Given the description of an element on the screen output the (x, y) to click on. 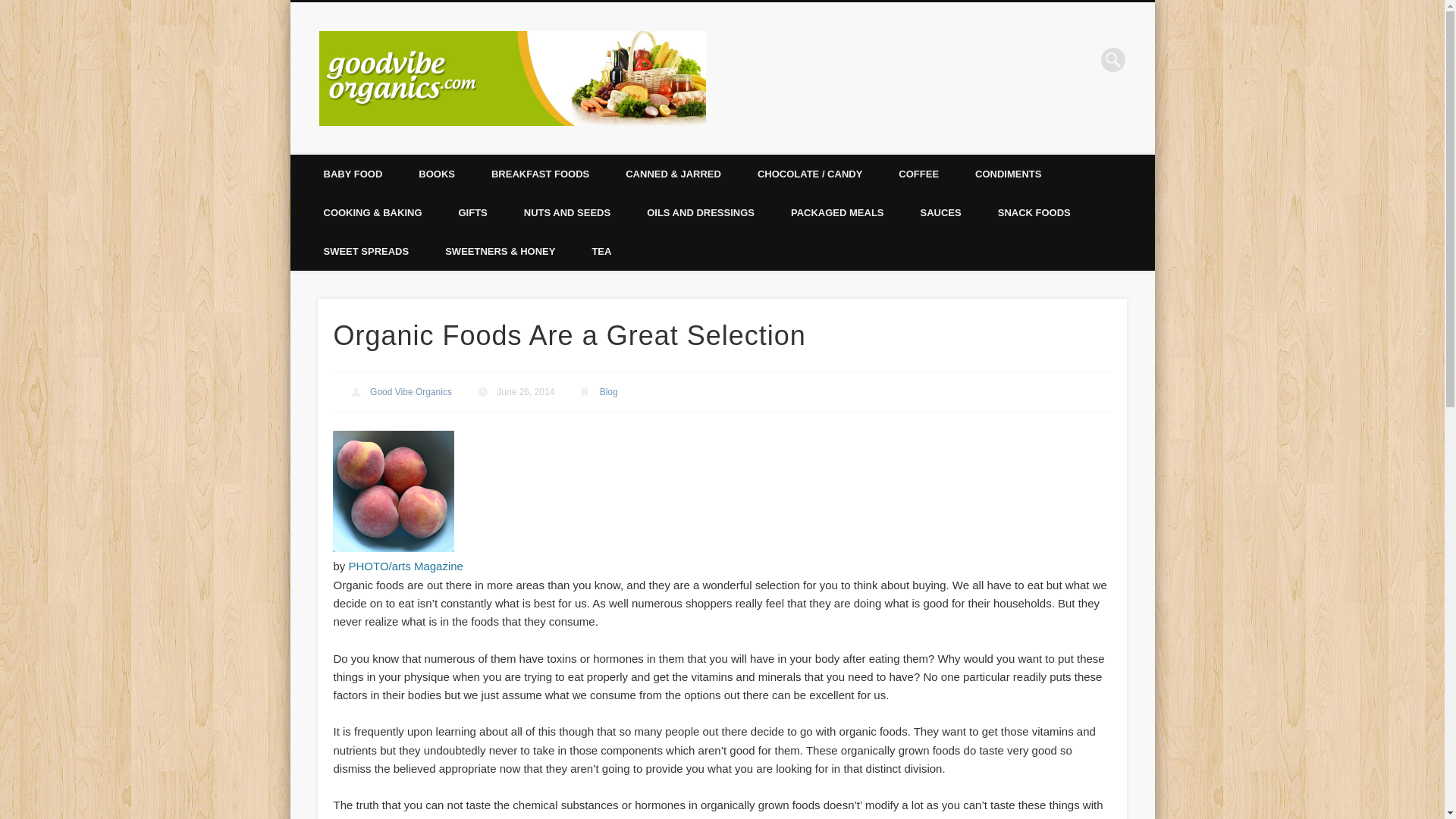
TEA (600, 251)
PACKAGED MEALS (837, 212)
GIFTS (472, 212)
OILS AND DRESSINGS (700, 212)
Search (11, 7)
BOOKS (436, 173)
COFFEE (918, 173)
BABY FOOD (352, 173)
SAUCES (940, 212)
SNACK FOODS (1034, 212)
